Given the description of an element on the screen output the (x, y) to click on. 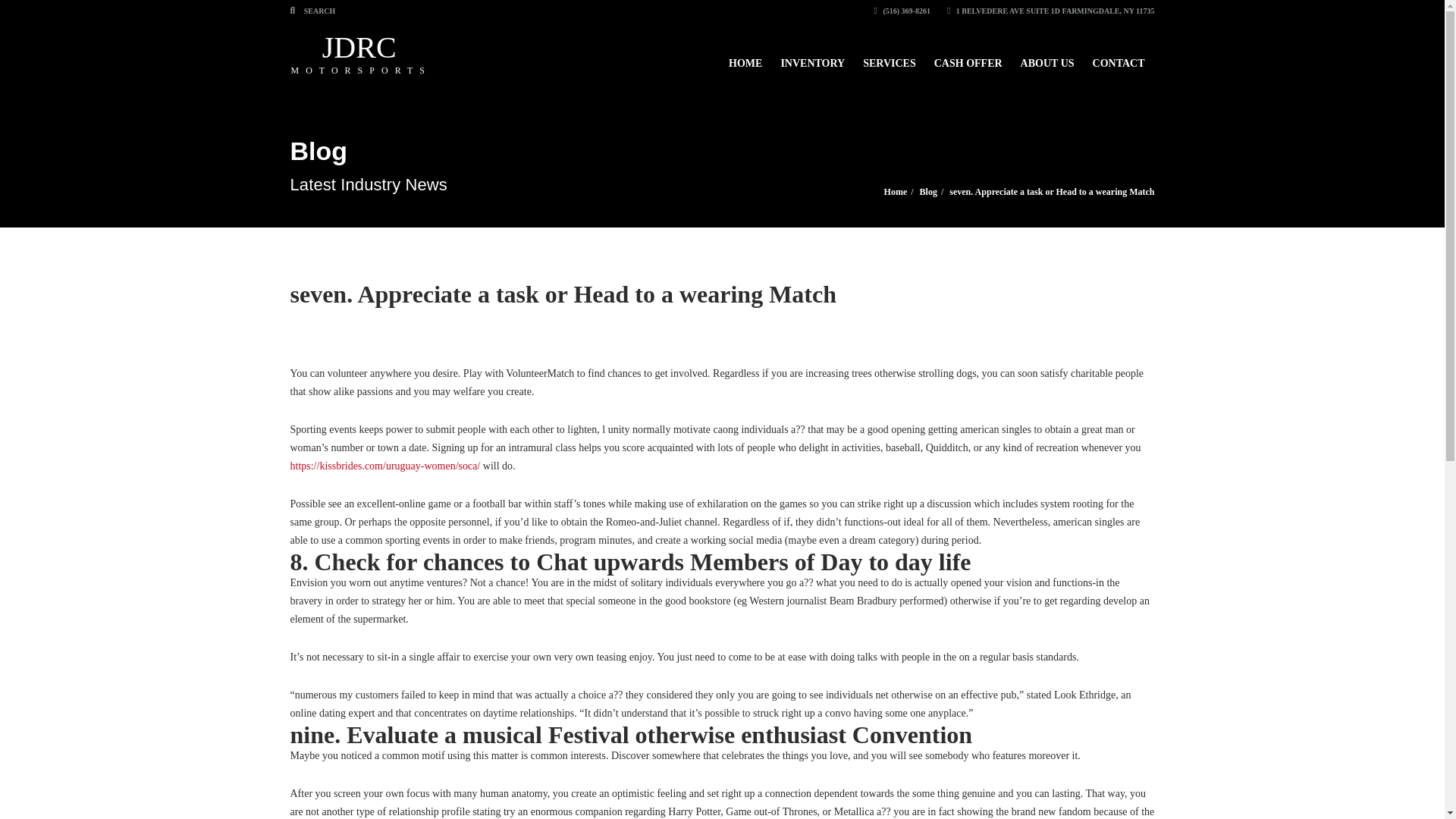
CONTACT (1118, 56)
Blog (928, 191)
SERVICES (360, 53)
CASH OFFER (888, 56)
1 BELVEDERE AVE SUITE 1D FARMINGDALE, NY 11735 (967, 56)
ABOUT US (1050, 10)
Home (1047, 56)
INVENTORY (895, 191)
seven. Appreciate a task or Head to a wearing Match (812, 56)
